Given the description of an element on the screen output the (x, y) to click on. 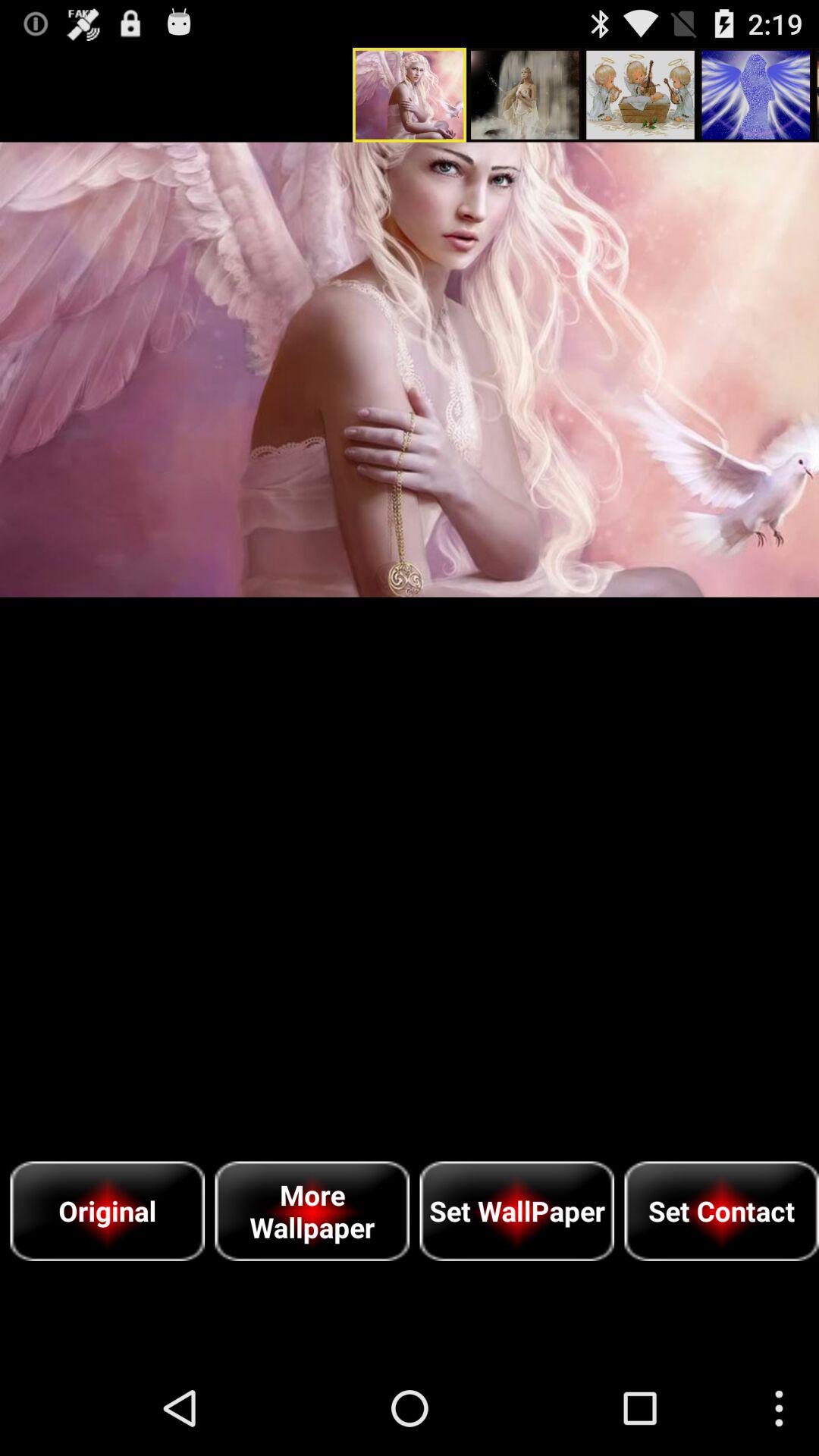
press the icon next to set wallpaper (721, 1210)
